Given the description of an element on the screen output the (x, y) to click on. 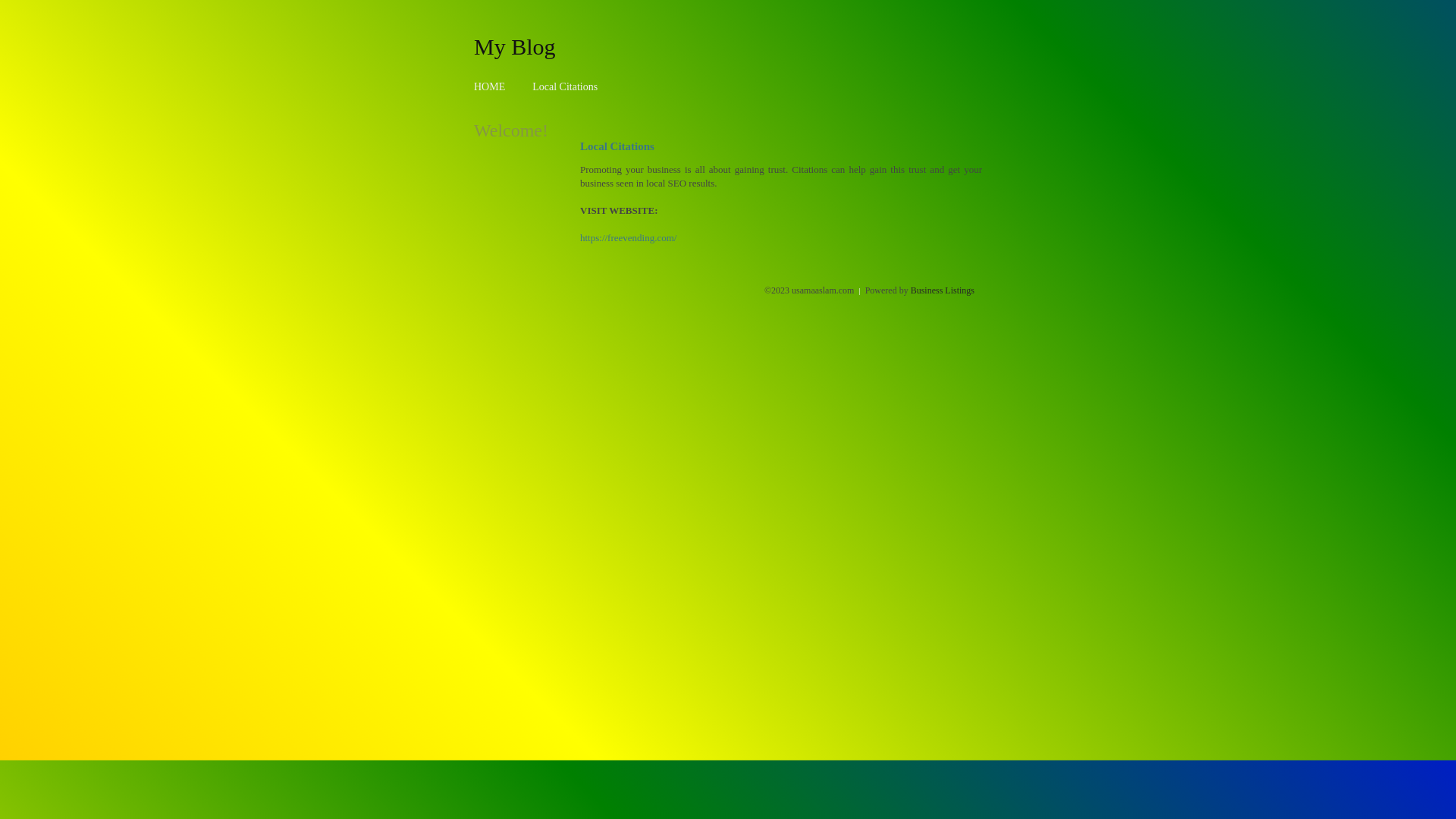
HOME Element type: text (489, 86)
Business Listings Element type: text (942, 290)
My Blog Element type: text (514, 46)
https://freevending.com/ Element type: text (628, 237)
Local Citations Element type: text (564, 86)
